Given the description of an element on the screen output the (x, y) to click on. 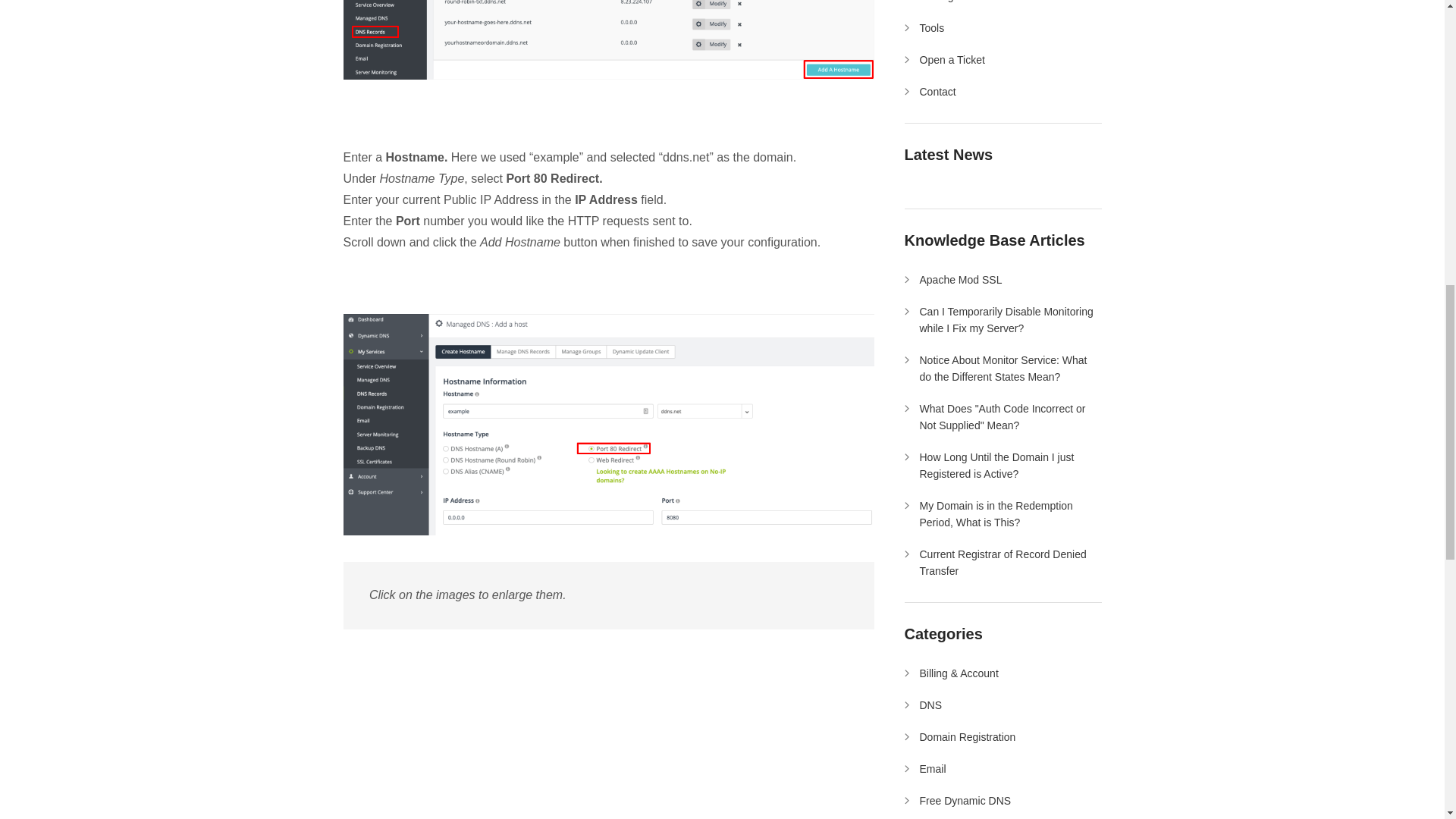
View all posts filed under Free Dynamic DNS (964, 800)
View all posts filed under DNS (930, 705)
View all posts filed under Email (931, 768)
View all posts filed under Domain Registration (966, 736)
